Given the description of an element on the screen output the (x, y) to click on. 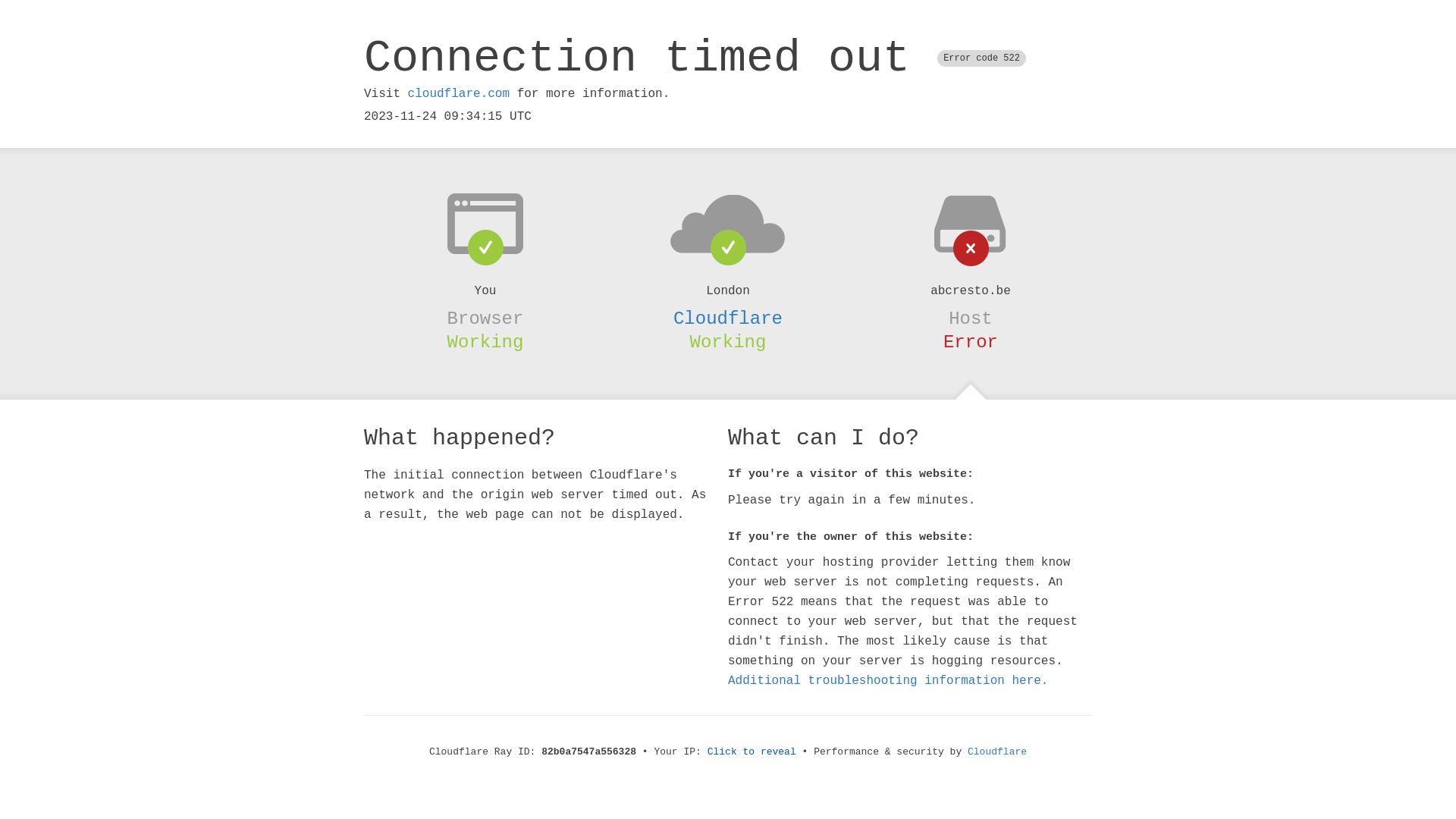
Cloudflare Element type: text (727, 318)
Additional troubleshooting information here. Element type: text (888, 680)
Cloudflare Element type: text (996, 751)
Click to reveal Element type: text (751, 751)
cloudflare.com Element type: text (458, 93)
